Given the description of an element on the screen output the (x, y) to click on. 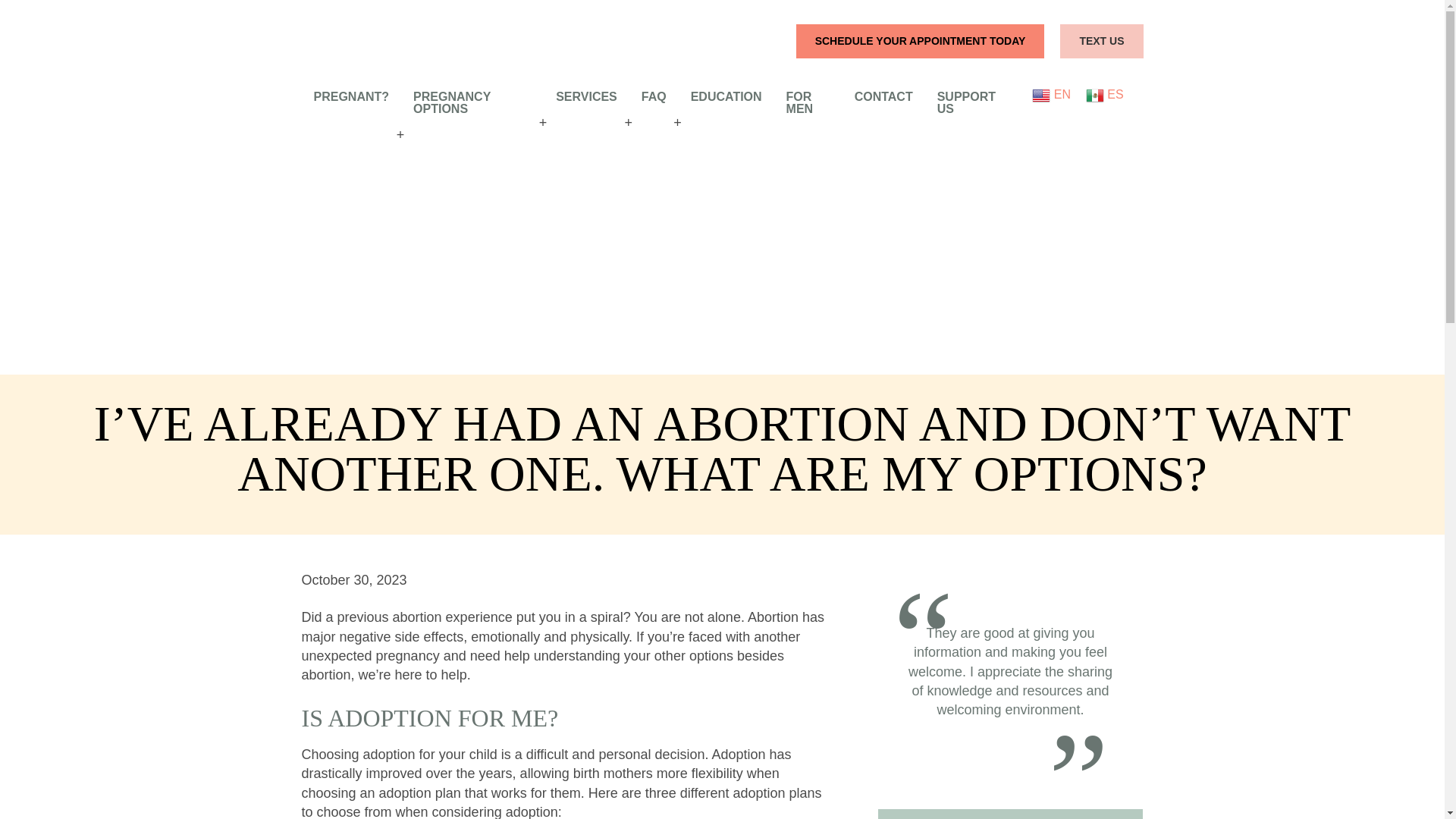
Services (585, 96)
EDUCATION (726, 96)
FOR MEN (808, 102)
Pregnancy Options (472, 102)
EN (1051, 93)
SUPPORT US (968, 102)
PREGNANT? (351, 96)
CONTACT (883, 96)
SCHEDULE YOUR APPOINTMENT TODAY (920, 41)
SERVICES (585, 96)
Faq (653, 96)
FAQ (653, 96)
PREGNANCY OPTIONS (472, 102)
TEXT US (1100, 41)
ES (1105, 93)
